Given the description of an element on the screen output the (x, y) to click on. 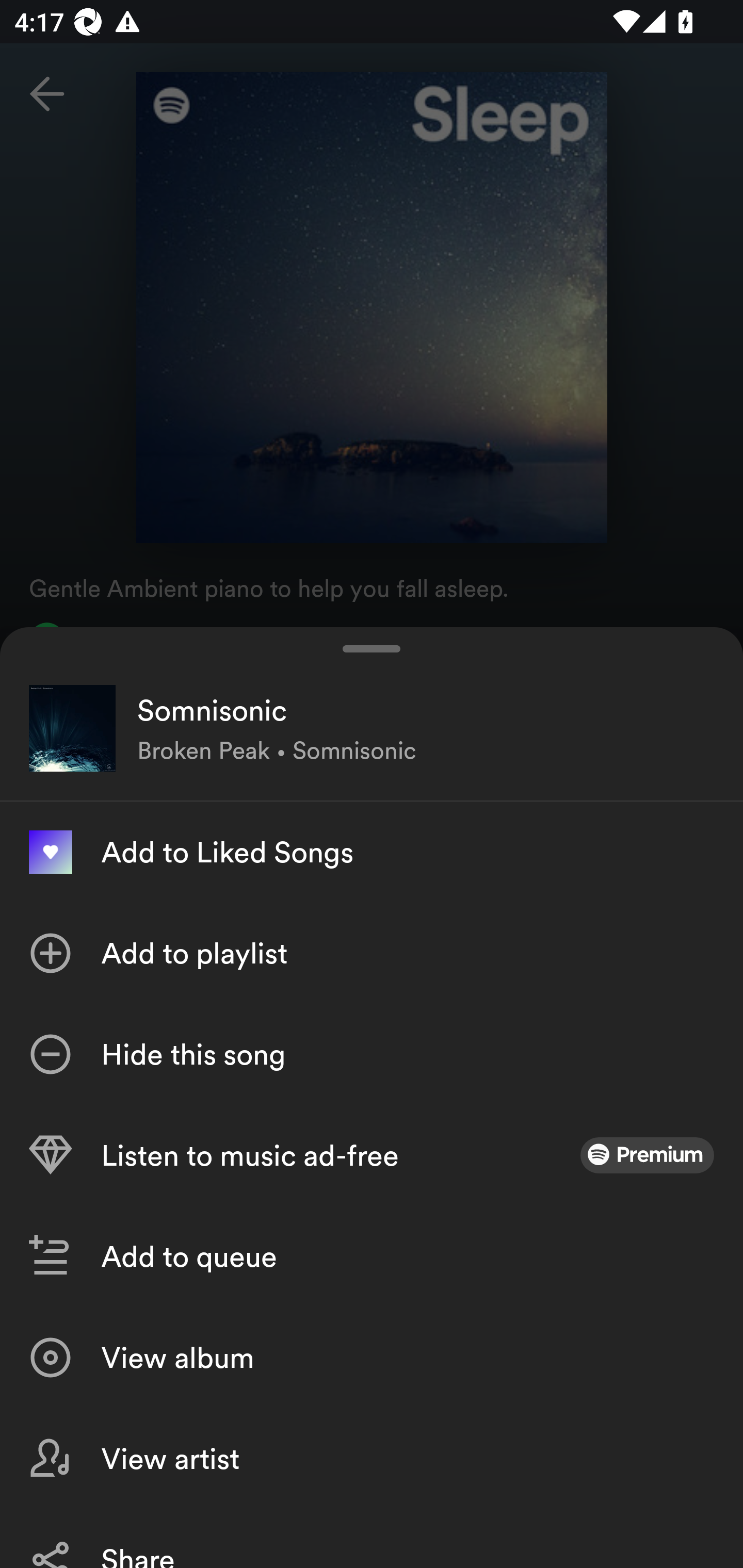
Add to Liked Songs (371, 852)
Add to playlist (371, 953)
Hide this song (371, 1054)
Listen to music ad-free (371, 1155)
Add to queue (371, 1256)
View album (371, 1357)
View artist (371, 1458)
Share (371, 1538)
